Given the description of an element on the screen output the (x, y) to click on. 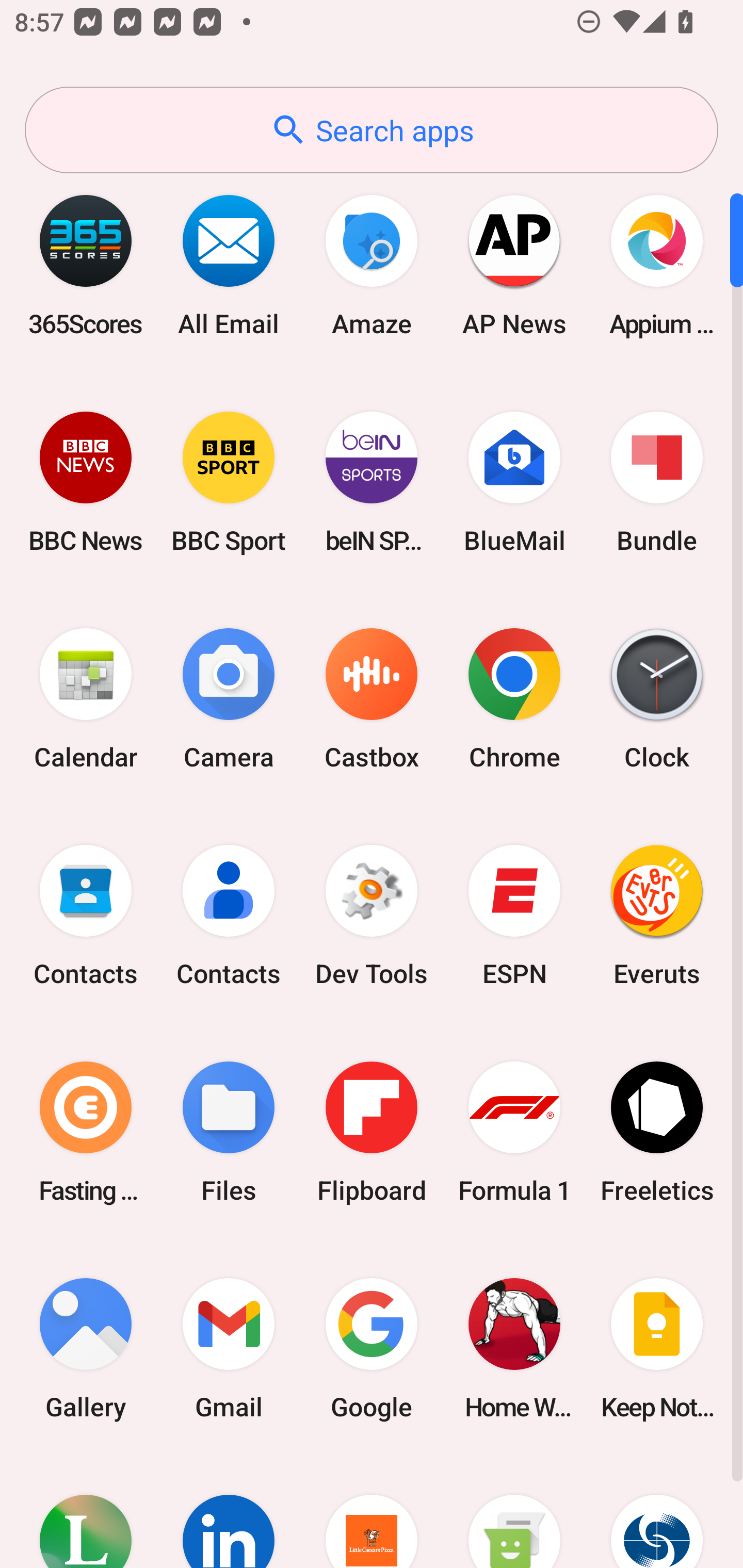
  Search apps (371, 130)
365Scores (85, 264)
All Email (228, 264)
Amaze (371, 264)
AP News (514, 264)
Appium Settings (656, 264)
BBC News (85, 482)
BBC Sport (228, 482)
beIN SPORTS (371, 482)
BlueMail (514, 482)
Bundle (656, 482)
Calendar (85, 699)
Camera (228, 699)
Castbox (371, 699)
Chrome (514, 699)
Clock (656, 699)
Contacts (85, 915)
Contacts (228, 915)
Dev Tools (371, 915)
ESPN (514, 915)
Everuts (656, 915)
Fasting Coach (85, 1131)
Files (228, 1131)
Flipboard (371, 1131)
Formula 1 (514, 1131)
Freeletics (656, 1131)
Gallery (85, 1348)
Gmail (228, 1348)
Google (371, 1348)
Home Workout (514, 1348)
Keep Notes (656, 1348)
